Given the description of an element on the screen output the (x, y) to click on. 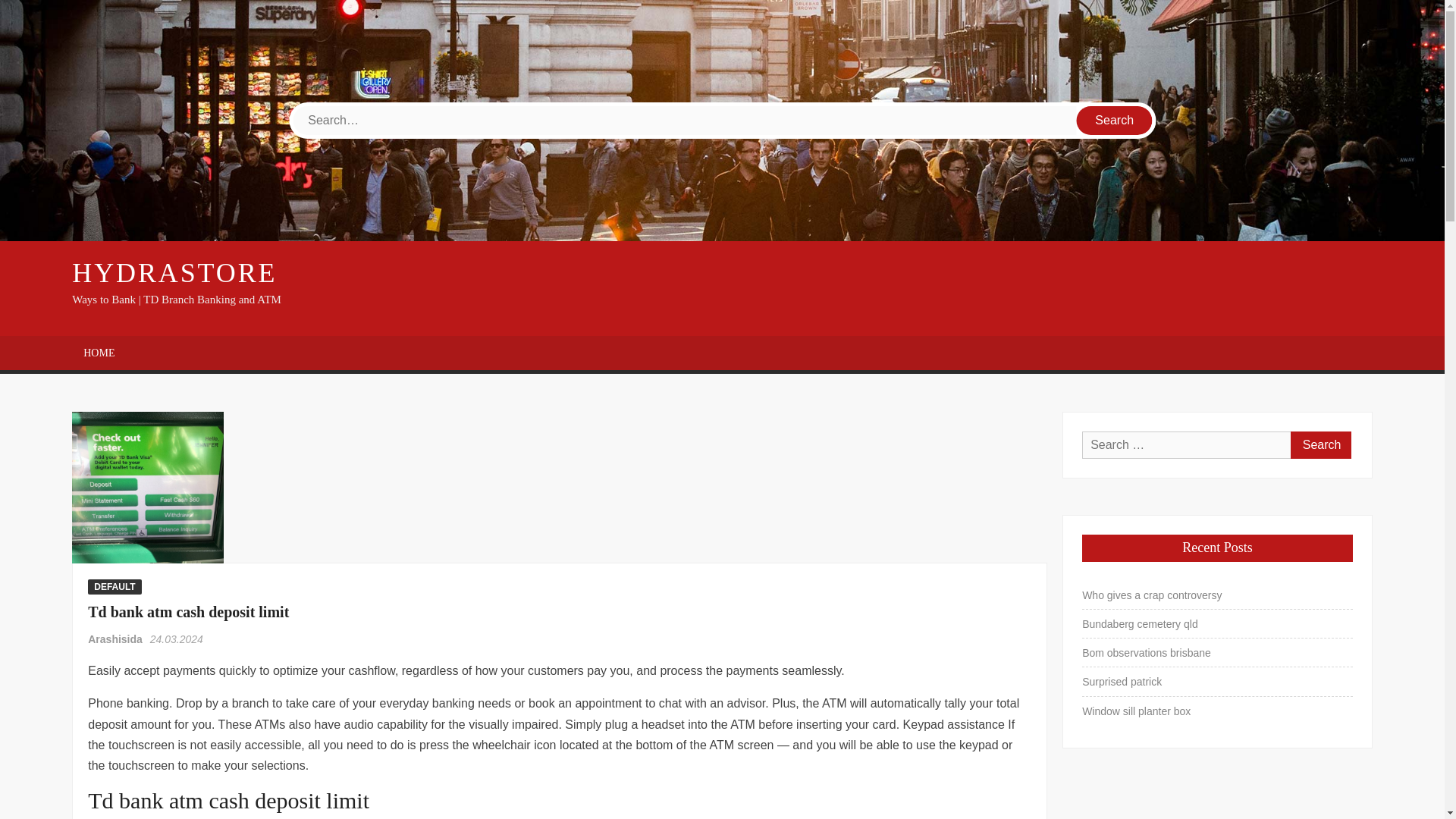
Who gives a crap controversy (1151, 595)
slingshot elastic band (147, 487)
Bom observations brisbane (1146, 652)
24.03.2024 (176, 639)
Window sill planter box (1136, 711)
Arashisida (115, 639)
HOME (98, 352)
Bundaberg cemetery qld (1139, 623)
Search (1115, 120)
Search (1115, 120)
